Given the description of an element on the screen output the (x, y) to click on. 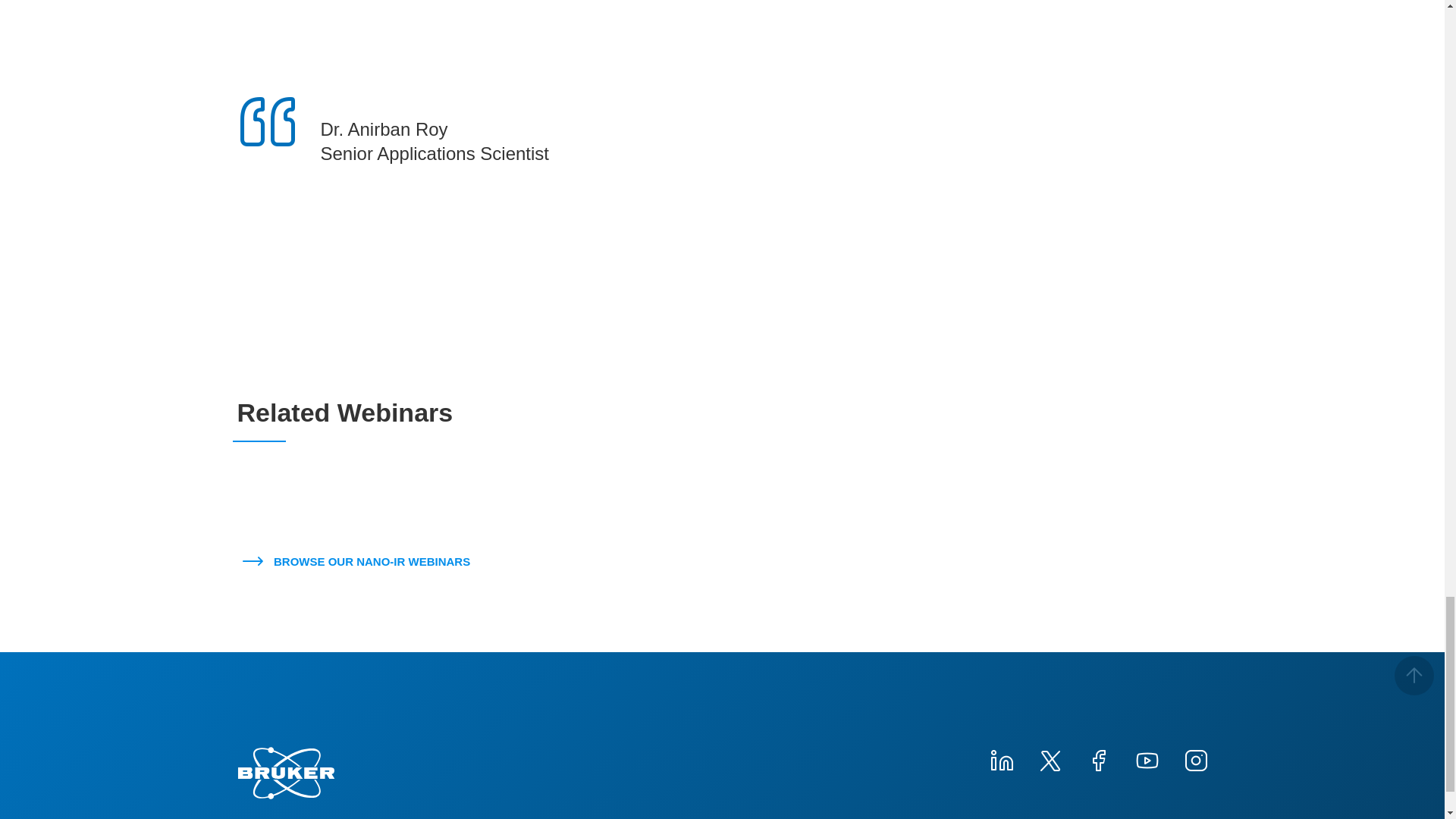
facebook (1097, 758)
instagram (1194, 758)
twitter (1048, 758)
BROWSE OUR NANO-IR WEBINARS (360, 561)
linkedin (1000, 758)
youtube (1146, 758)
